Given the description of an element on the screen output the (x, y) to click on. 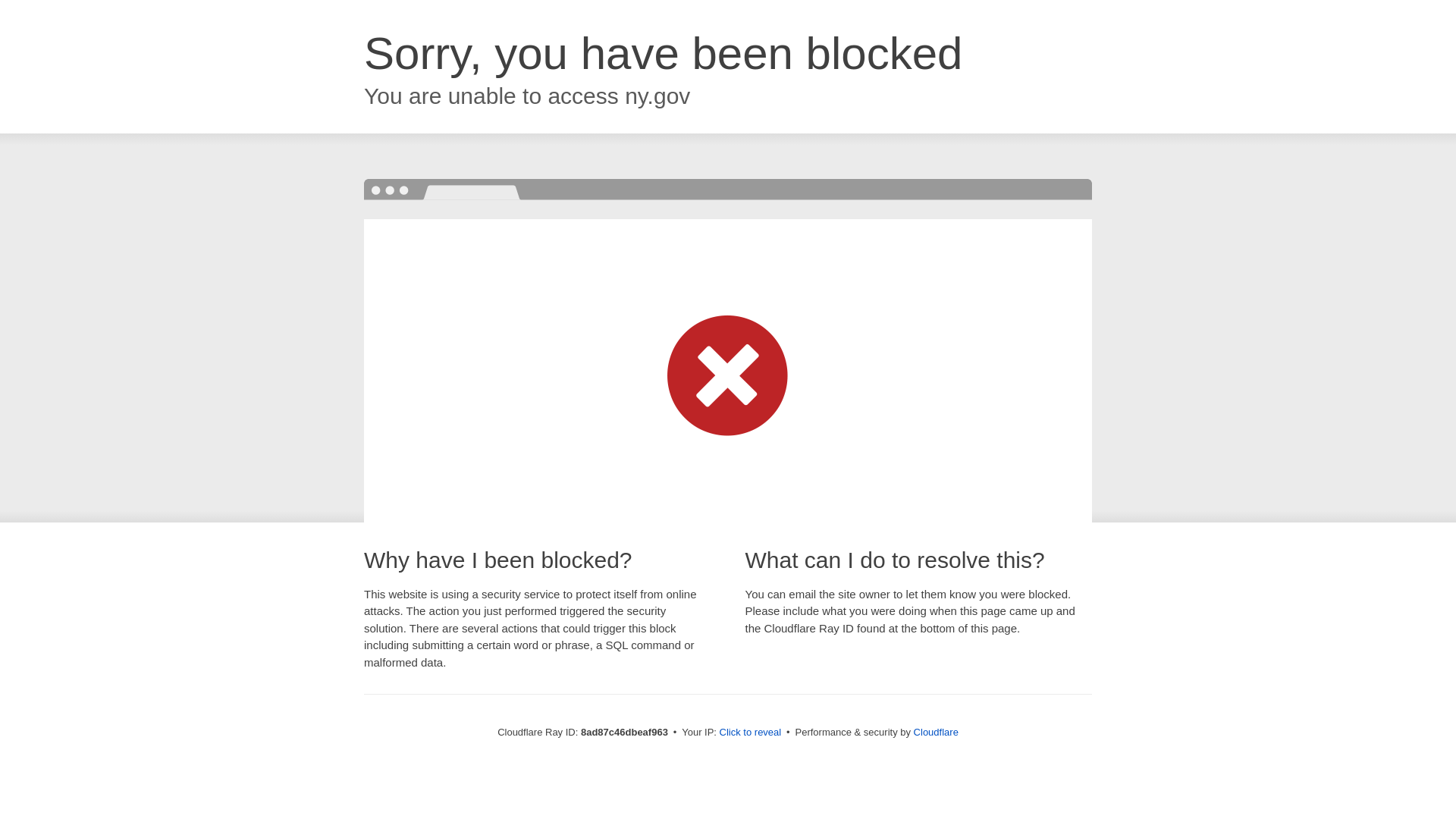
Click to reveal (750, 732)
Cloudflare (936, 731)
